Given the description of an element on the screen output the (x, y) to click on. 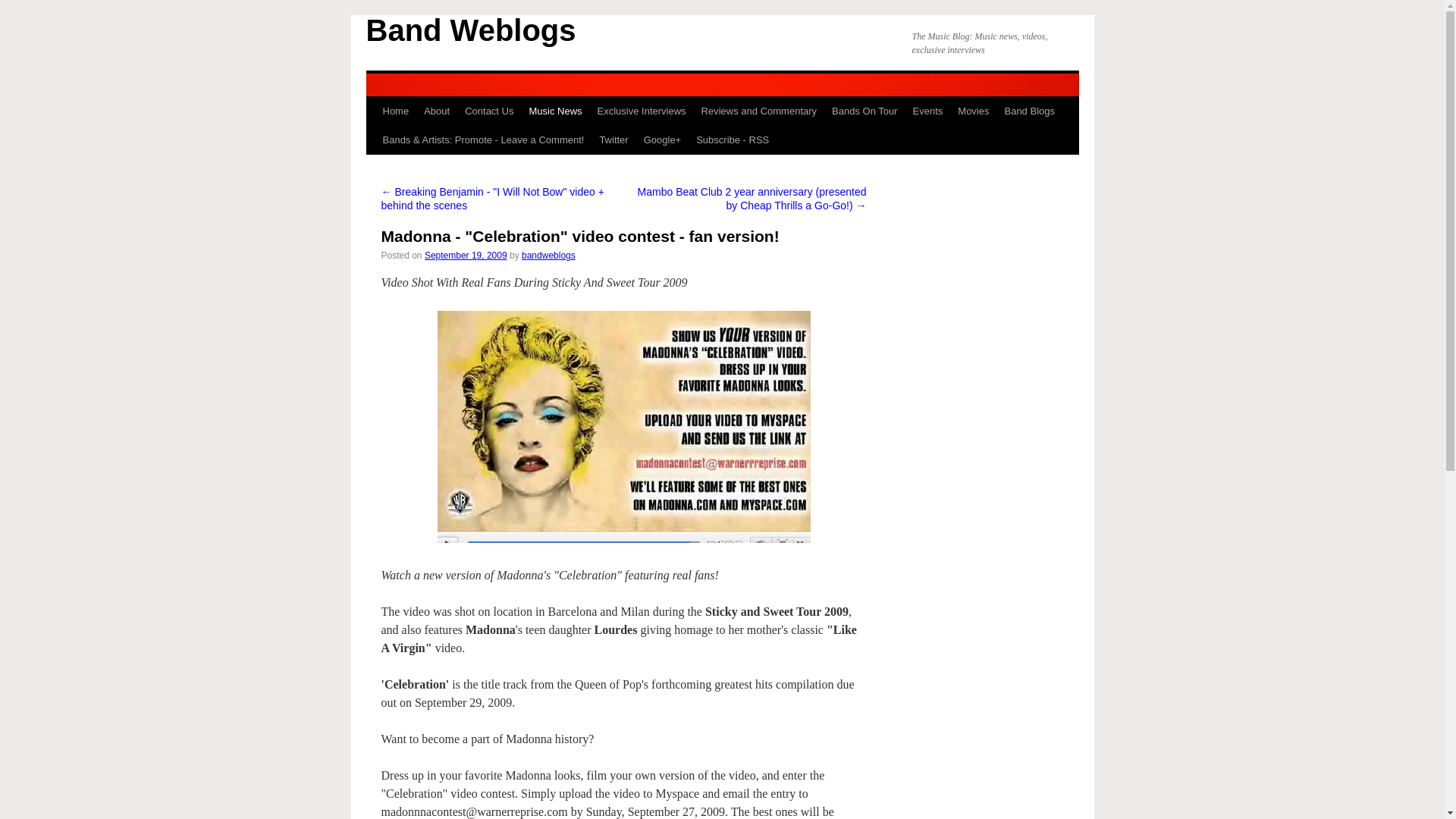
Subscribe - RSS (732, 140)
Band Blogs (1028, 111)
bandweblogs (548, 255)
9:48 am (465, 255)
September 19, 2009 (465, 255)
Movies (972, 111)
Bands On Tour (864, 111)
Home (395, 111)
Twitter (612, 140)
About (436, 111)
